Given the description of an element on the screen output the (x, y) to click on. 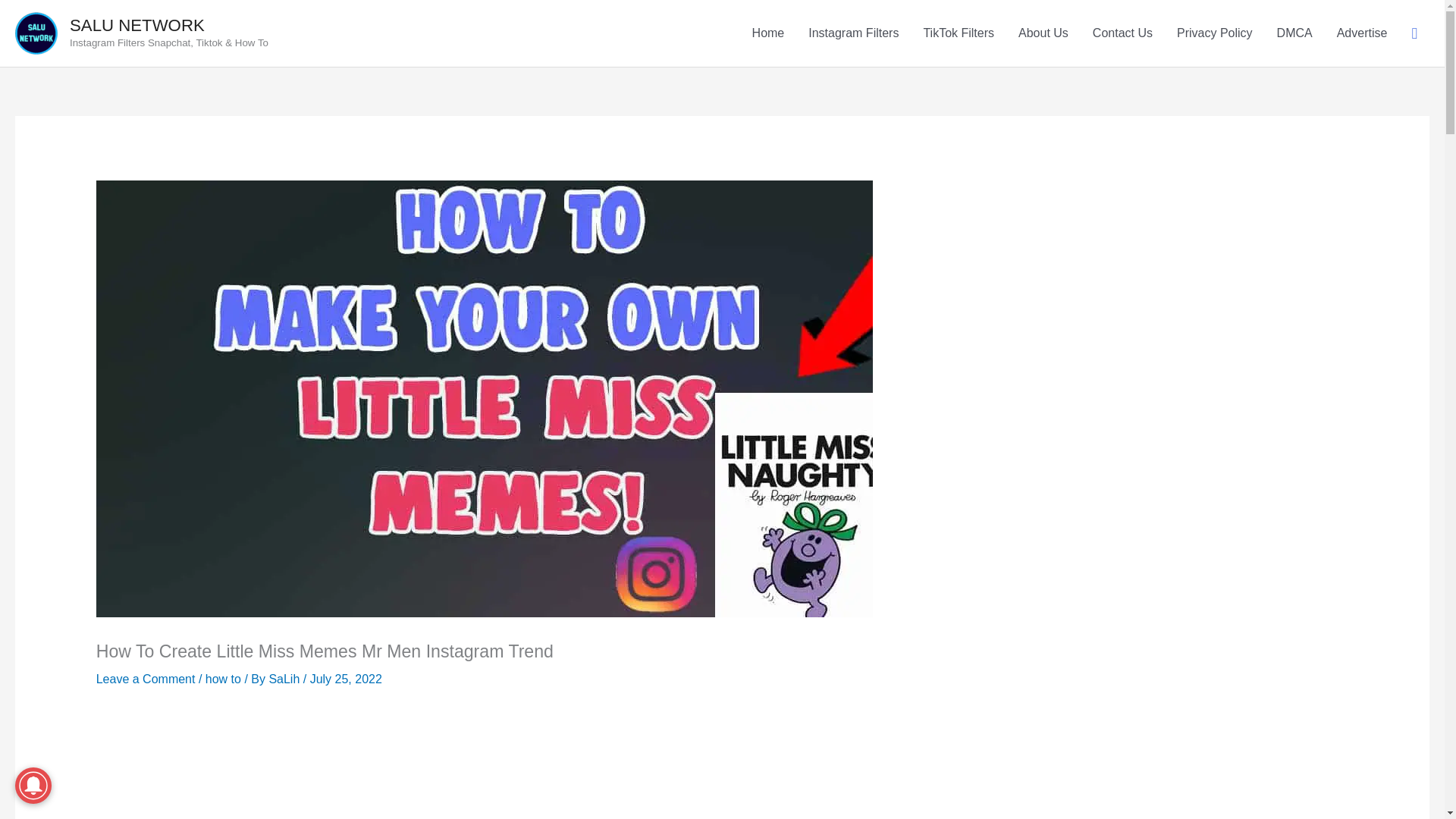
View all posts by SaLih (283, 678)
Leave a Comment (145, 678)
Advertise (1361, 33)
SALU NETWORK (137, 25)
SaLih (283, 678)
how to (223, 678)
Advertisement (722, 765)
About Us (1043, 33)
Privacy Policy (1214, 33)
DMCA (1294, 33)
